Given the description of an element on the screen output the (x, y) to click on. 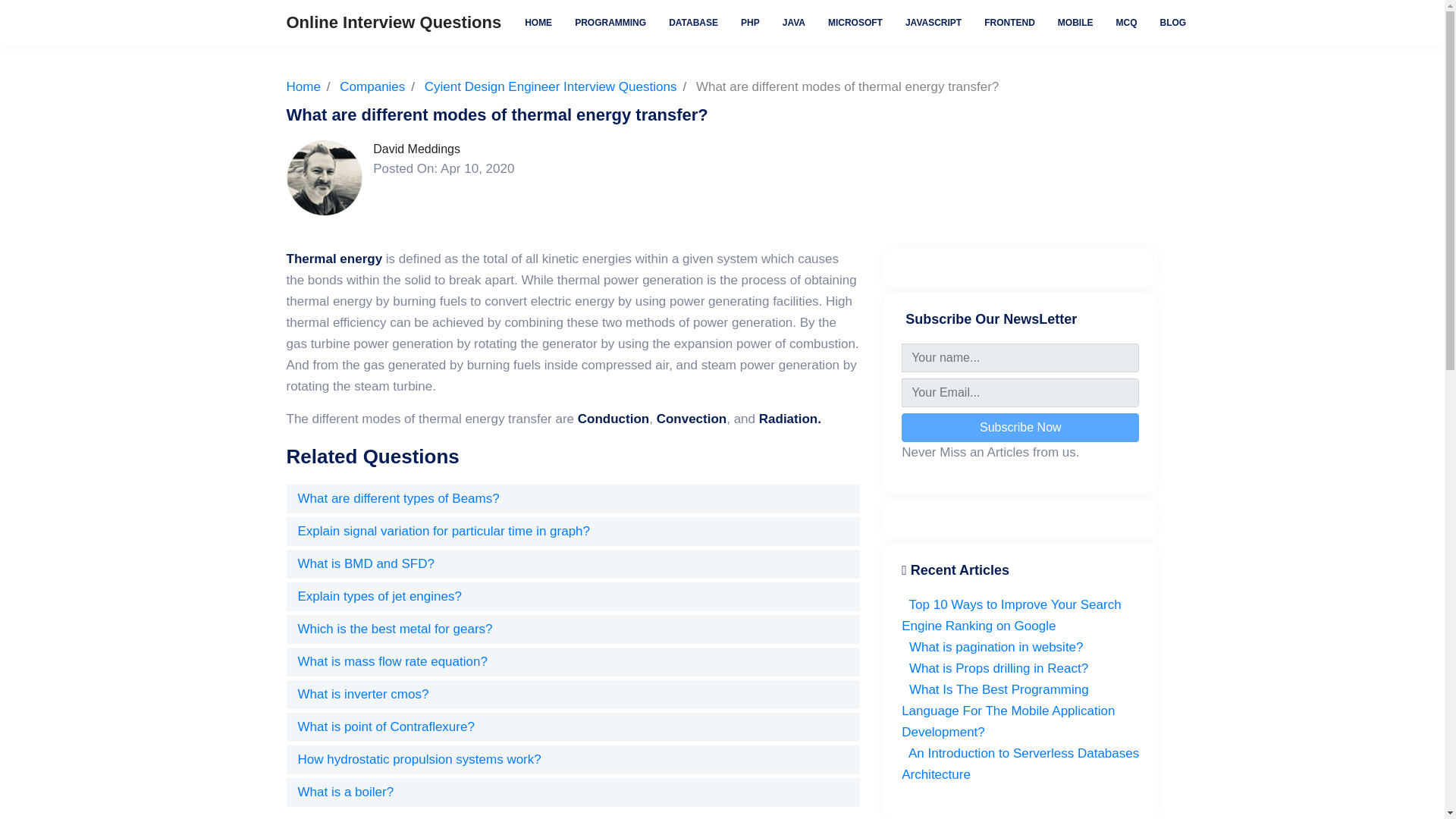
What is pagination in website? (992, 646)
What is a boiler? (345, 791)
What is BMD and SFD? (365, 563)
PHP (750, 22)
What is mass flow rate equation? (391, 661)
What is point of Contraflexure? (385, 726)
Explain signal variation for particular time in graph? (443, 531)
What is inverter cmos? (362, 694)
BLOG (1173, 22)
How hydrostatic propulsion systems work? (418, 759)
